Given the description of an element on the screen output the (x, y) to click on. 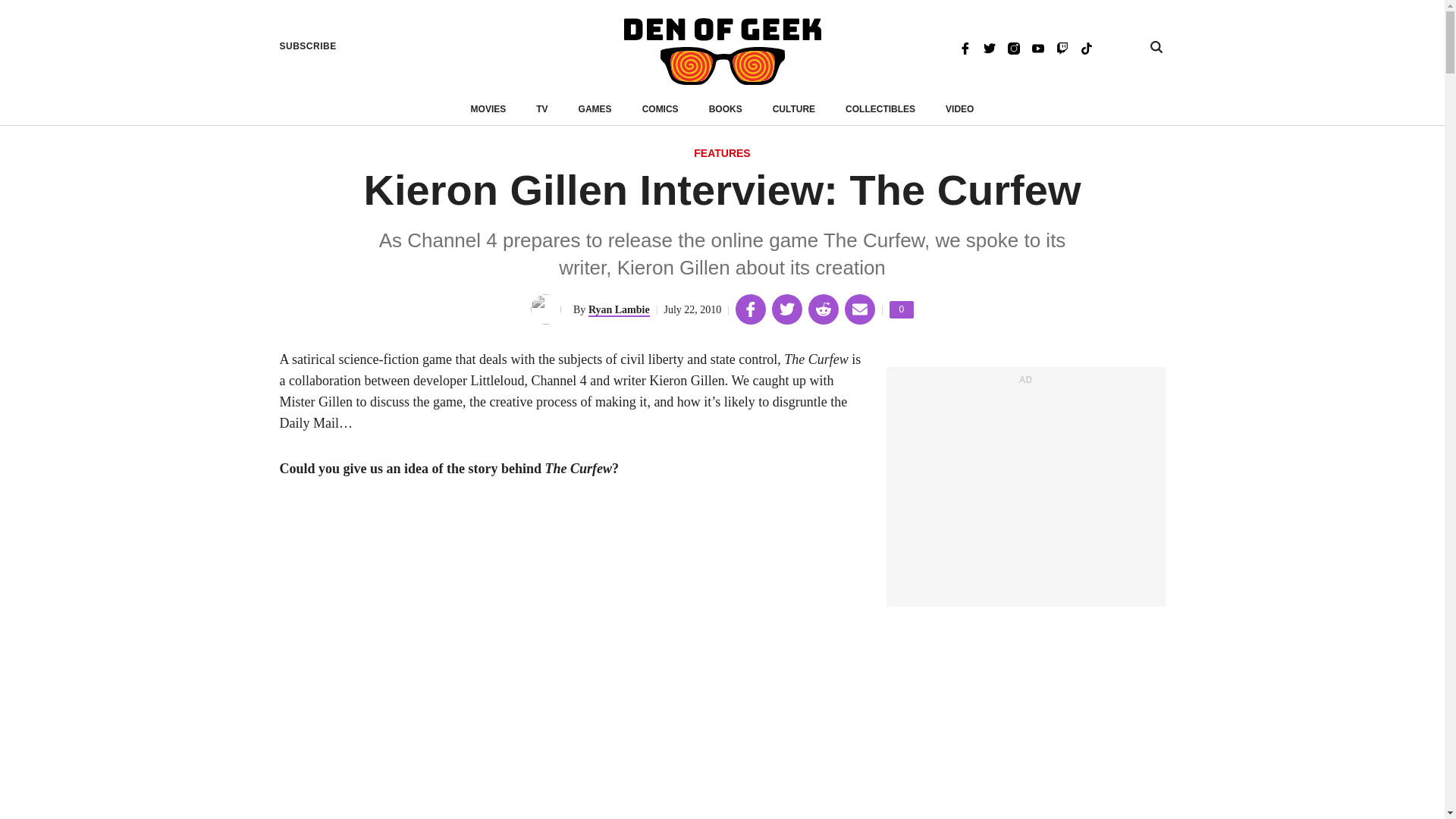
MOVIES (488, 109)
Twitter (988, 46)
FEATURES (721, 153)
SUBSCRIBE (307, 46)
Instagram (1013, 46)
BOOKS (725, 109)
COMICS (660, 109)
TikTok (1085, 46)
CULTURE (794, 109)
Den of Geek (722, 52)
